Given the description of an element on the screen output the (x, y) to click on. 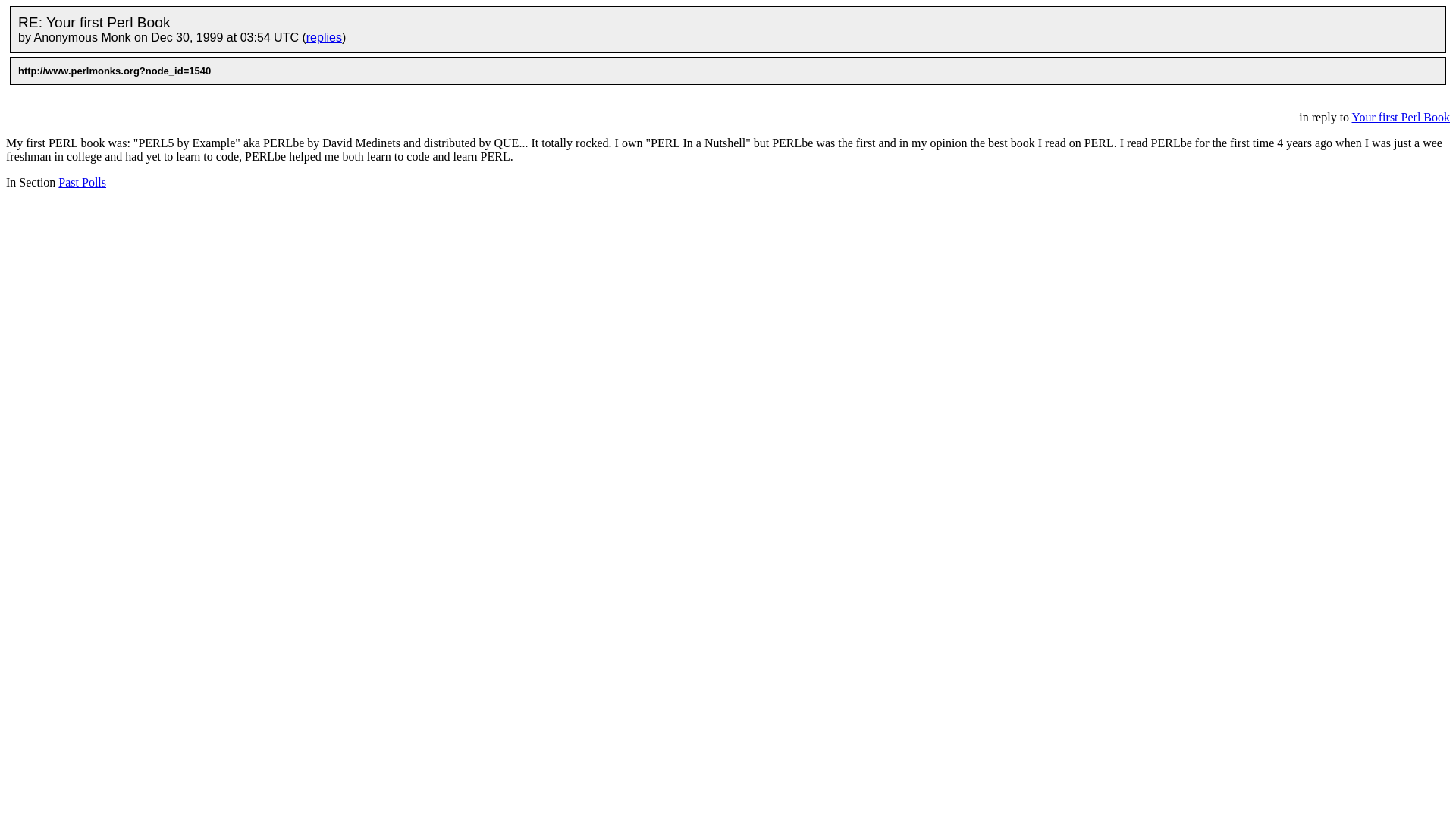
Past Polls (82, 182)
Your first Perl Book (1400, 116)
replies (323, 37)
